Given the description of an element on the screen output the (x, y) to click on. 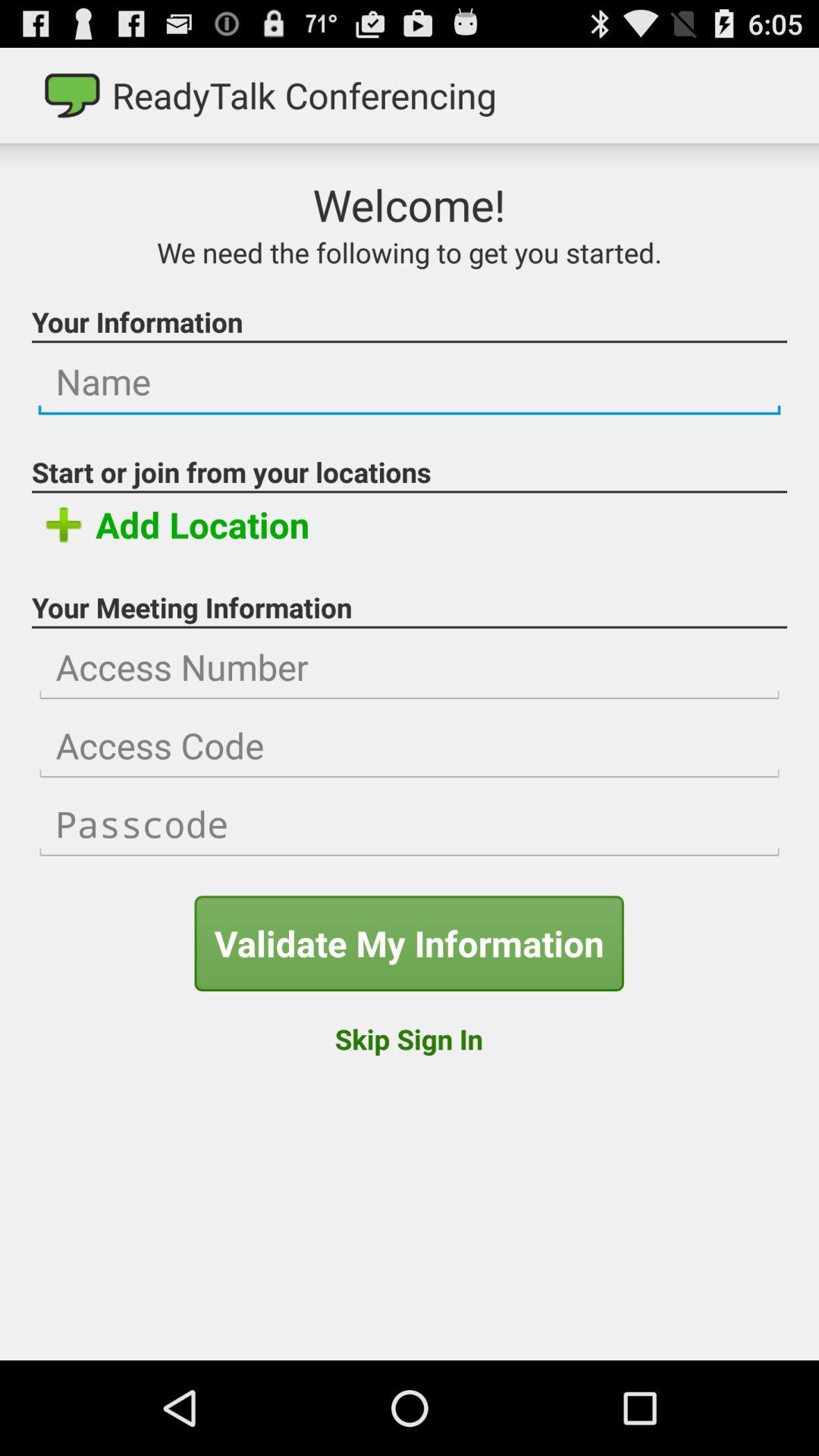
name (409, 381)
